Given the description of an element on the screen output the (x, y) to click on. 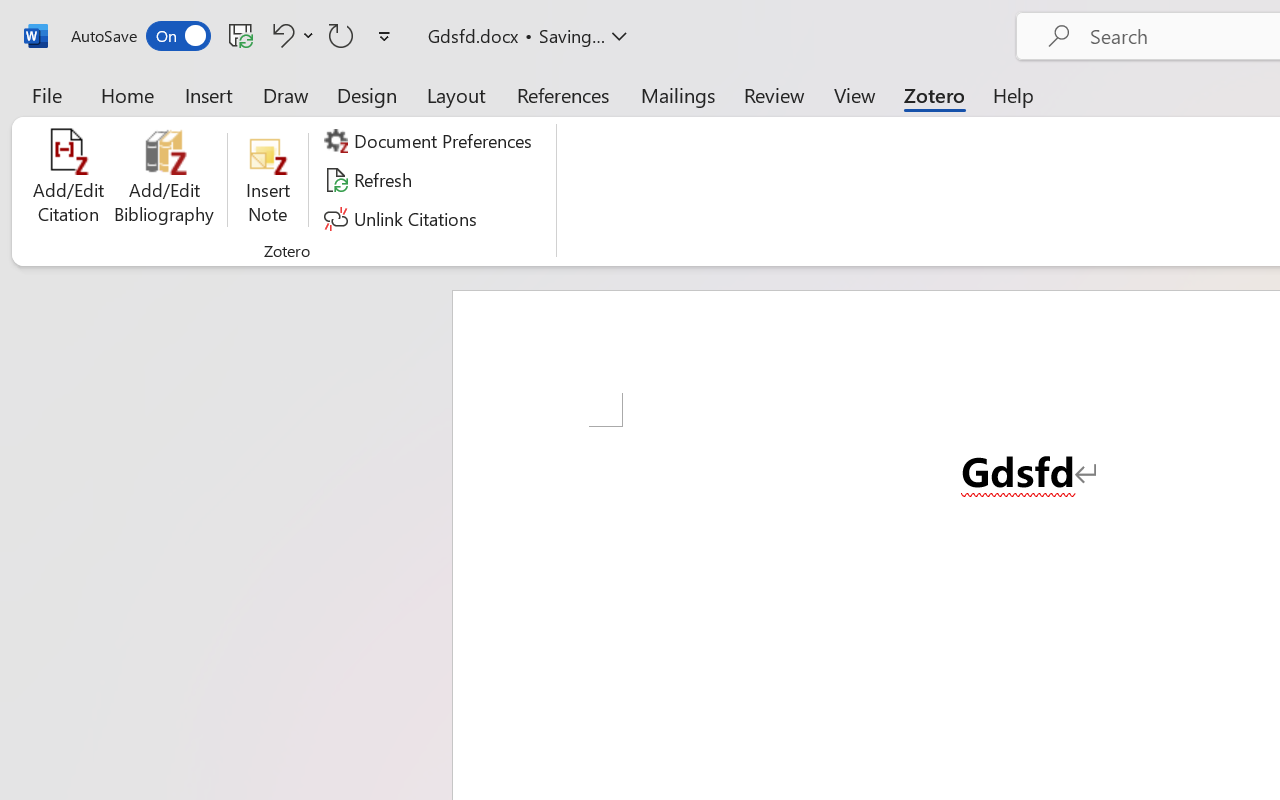
Undo <ApplyStyleToDoc>b__0 (280, 35)
Unlink Citations (403, 218)
Document Preferences (431, 141)
Insert Note (267, 179)
